Given the description of an element on the screen output the (x, y) to click on. 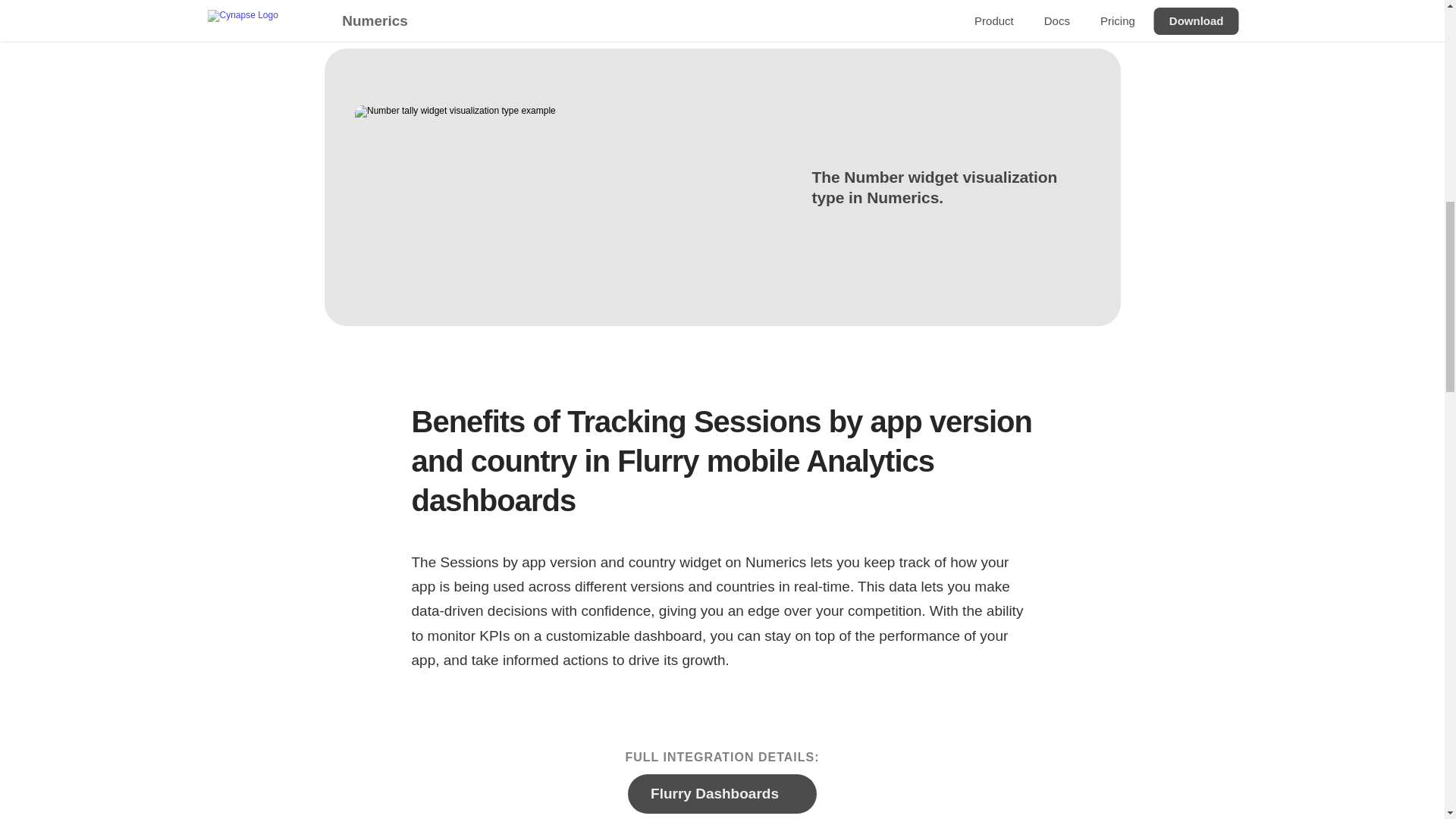
Flurry Dashboards (721, 793)
